Given the description of an element on the screen output the (x, y) to click on. 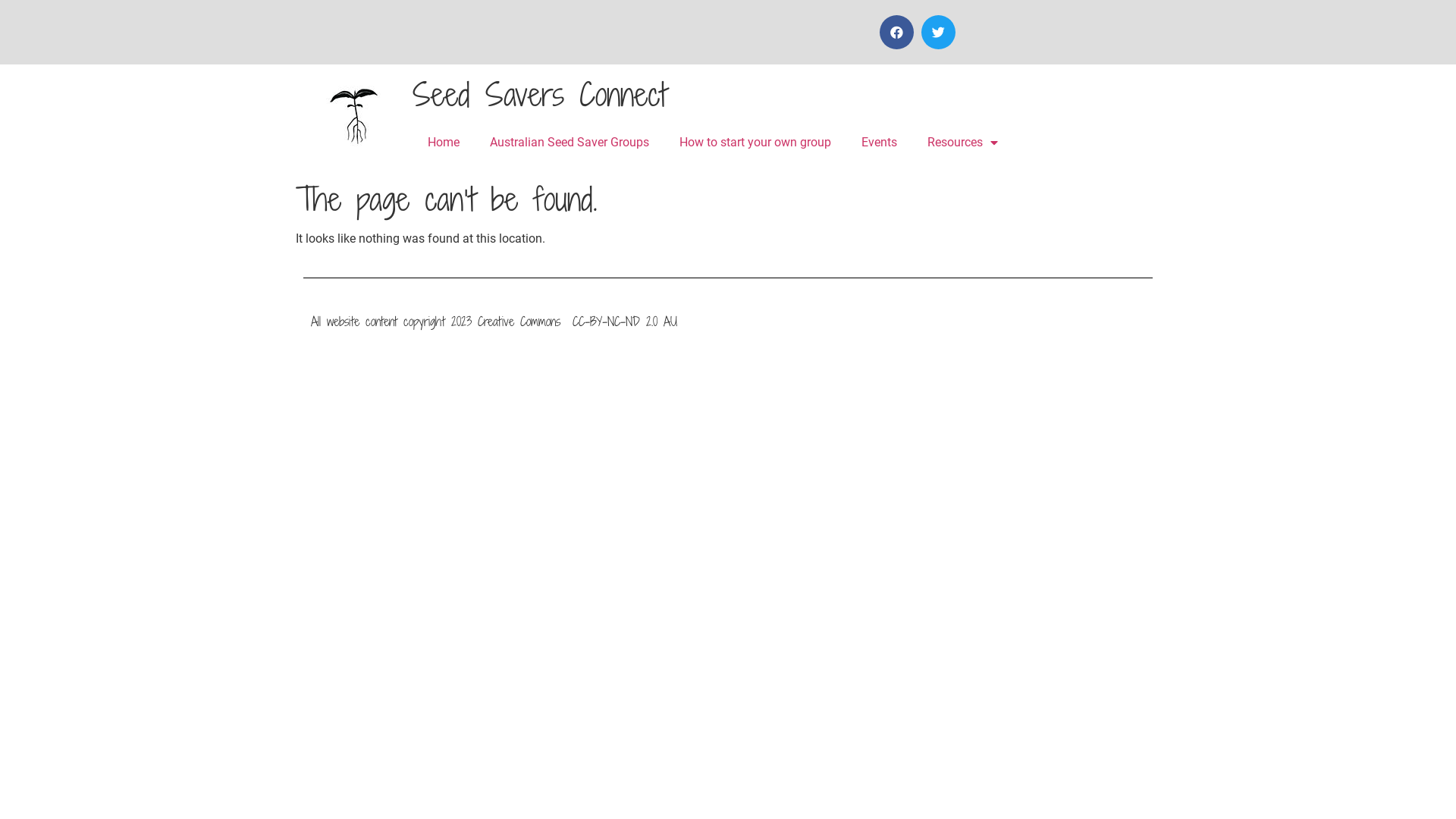
Events Element type: text (879, 142)
Seed Savers Connect Element type: text (539, 94)
Home Element type: text (443, 142)
How to start your own group Element type: text (755, 142)
Australian Seed Saver Groups Element type: text (569, 142)
Resources Element type: text (962, 142)
